Given the description of an element on the screen output the (x, y) to click on. 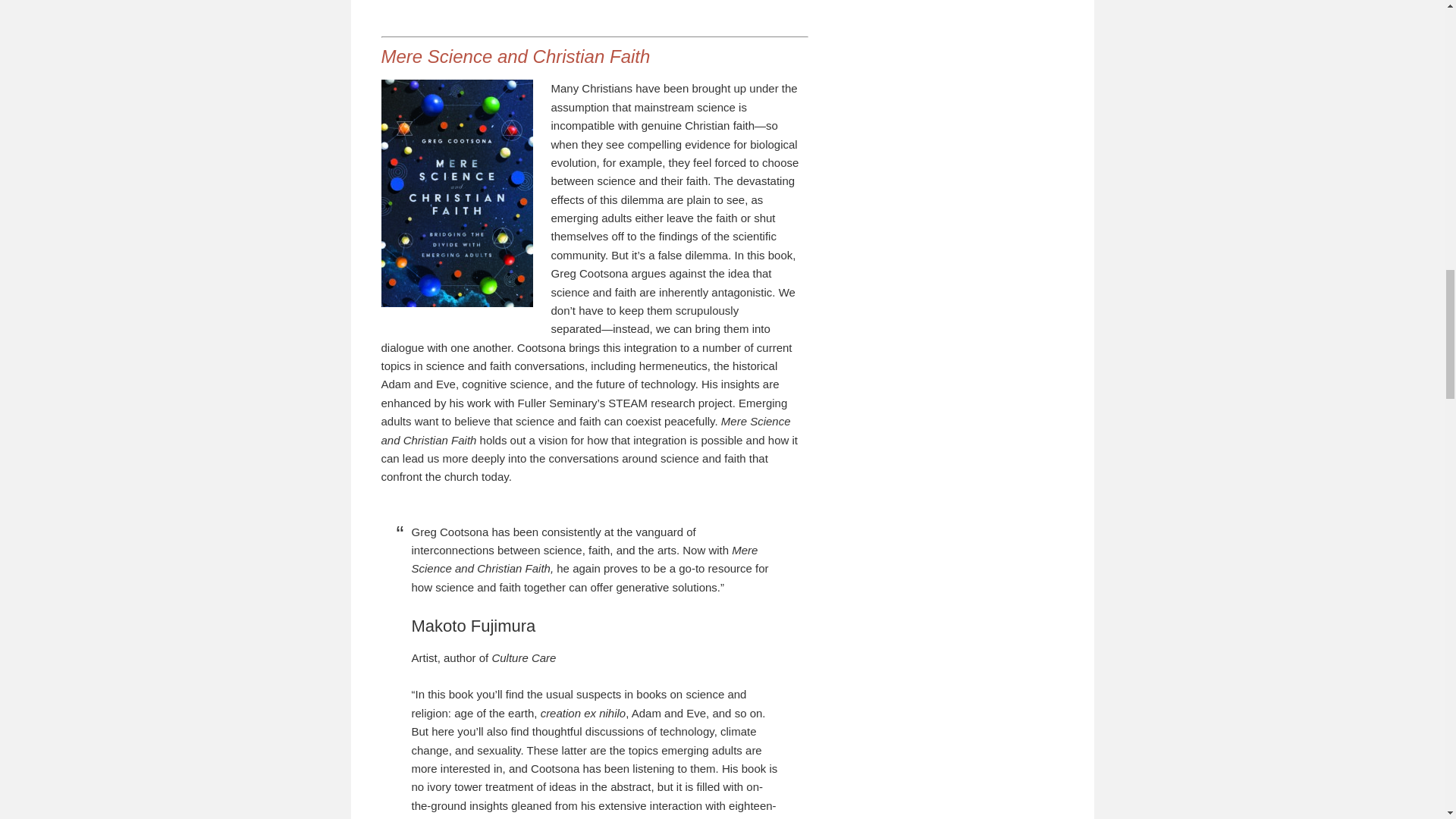
Mere Science and Christian Faith (514, 55)
